Given the description of an element on the screen output the (x, y) to click on. 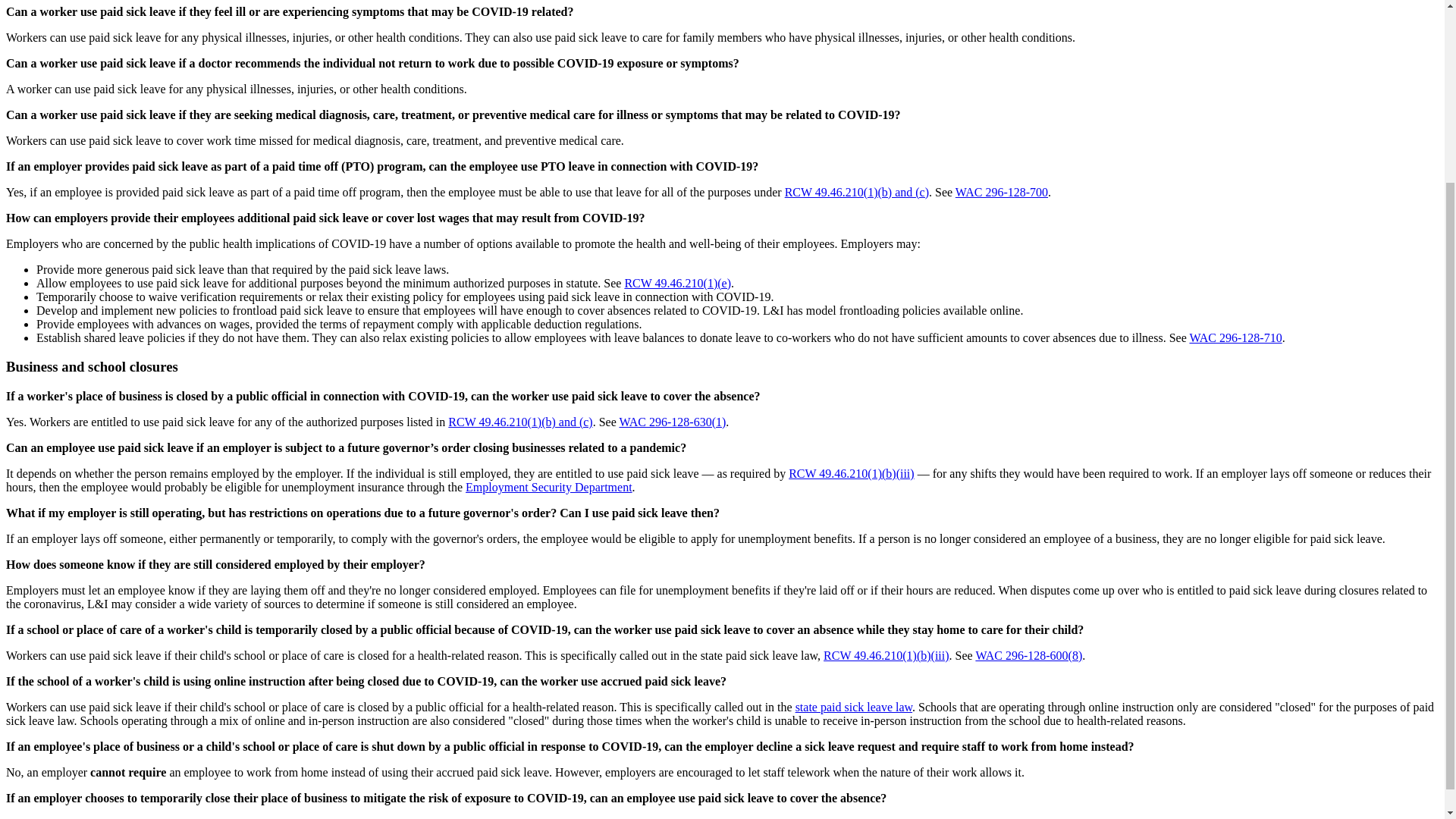
WAC 296-128-700 (1001, 192)
WAC 296-128-710 (1235, 337)
state paid sick leave law (853, 707)
Employment Security Department (548, 486)
